Given the description of an element on the screen output the (x, y) to click on. 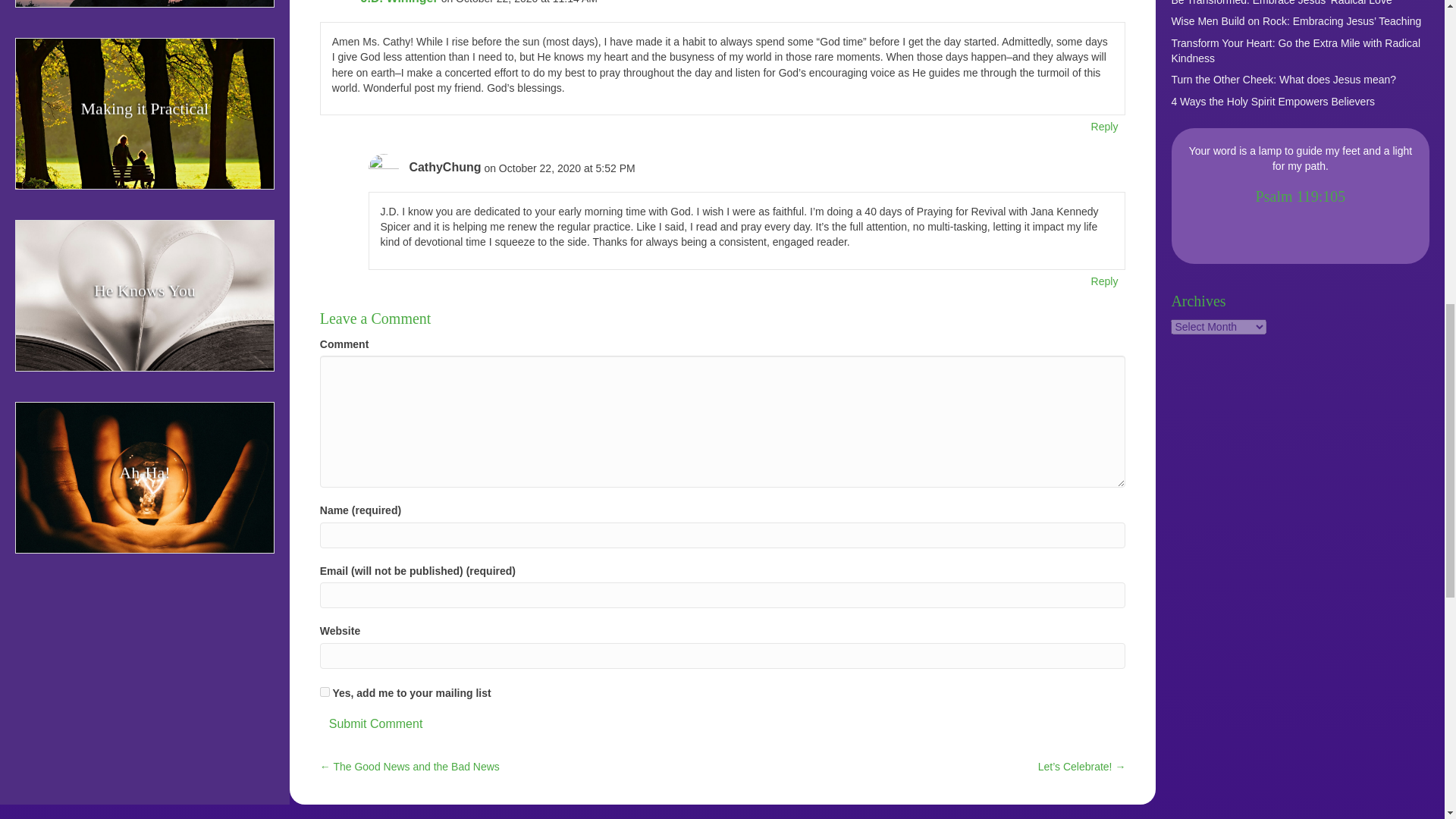
1 (325, 691)
Submit Comment (376, 723)
